Given the description of an element on the screen output the (x, y) to click on. 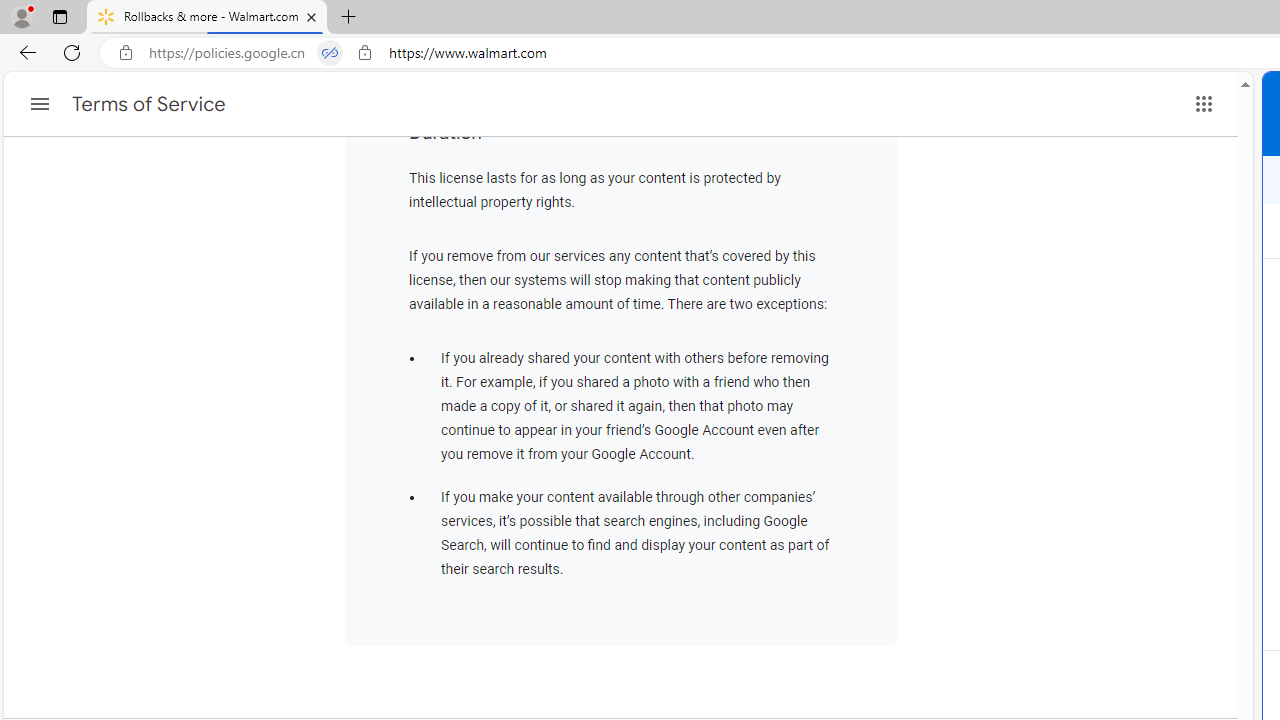
Rollbacks & more - Walmart.com (207, 17)
Tabs in split screen (330, 53)
